Given the description of an element on the screen output the (x, y) to click on. 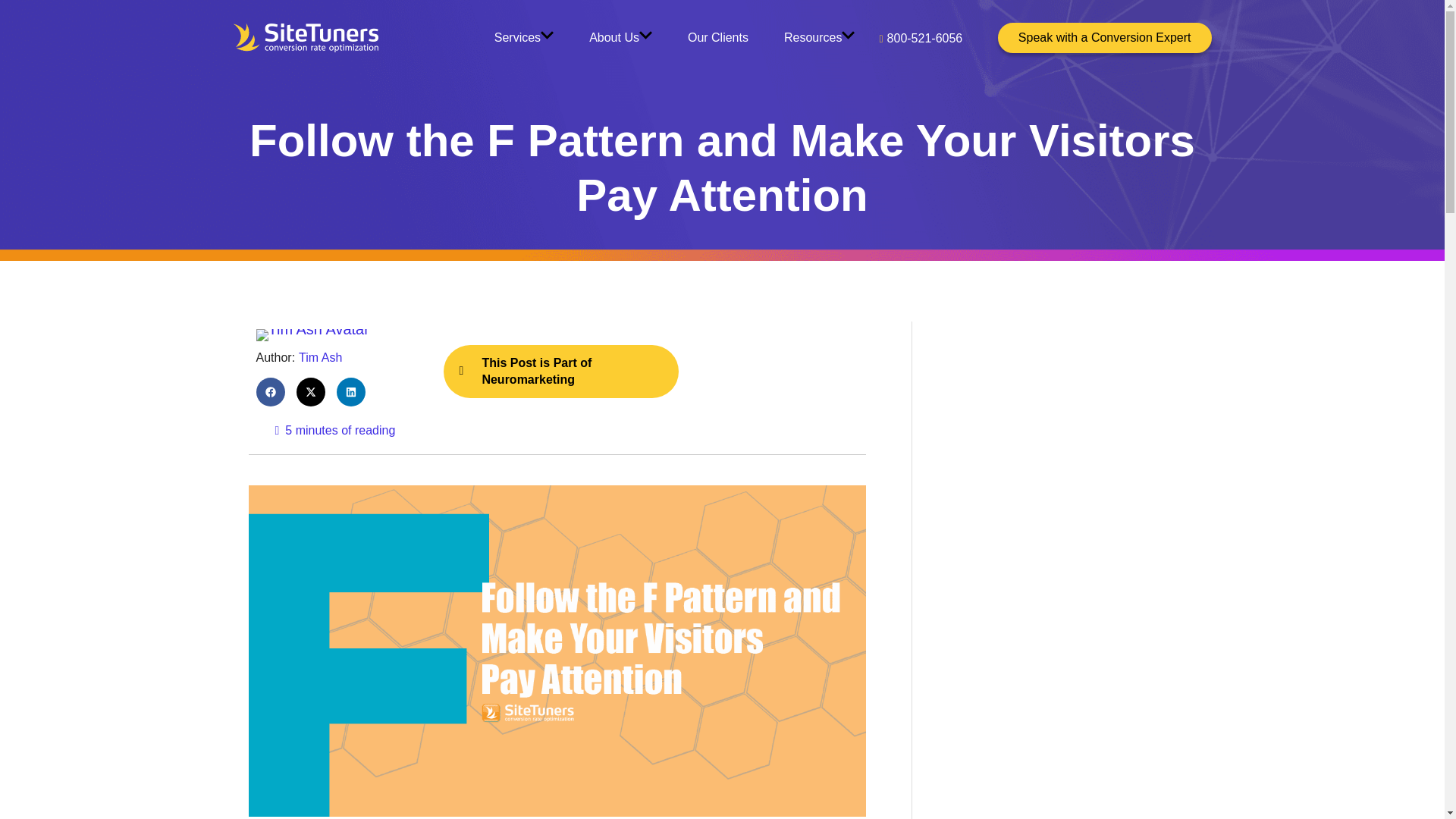
Our Clients (717, 38)
About Us (619, 38)
Services (523, 38)
Resources (818, 38)
Speak with a Conversion Expert (1104, 37)
800-521-6056 (914, 37)
